Given the description of an element on the screen output the (x, y) to click on. 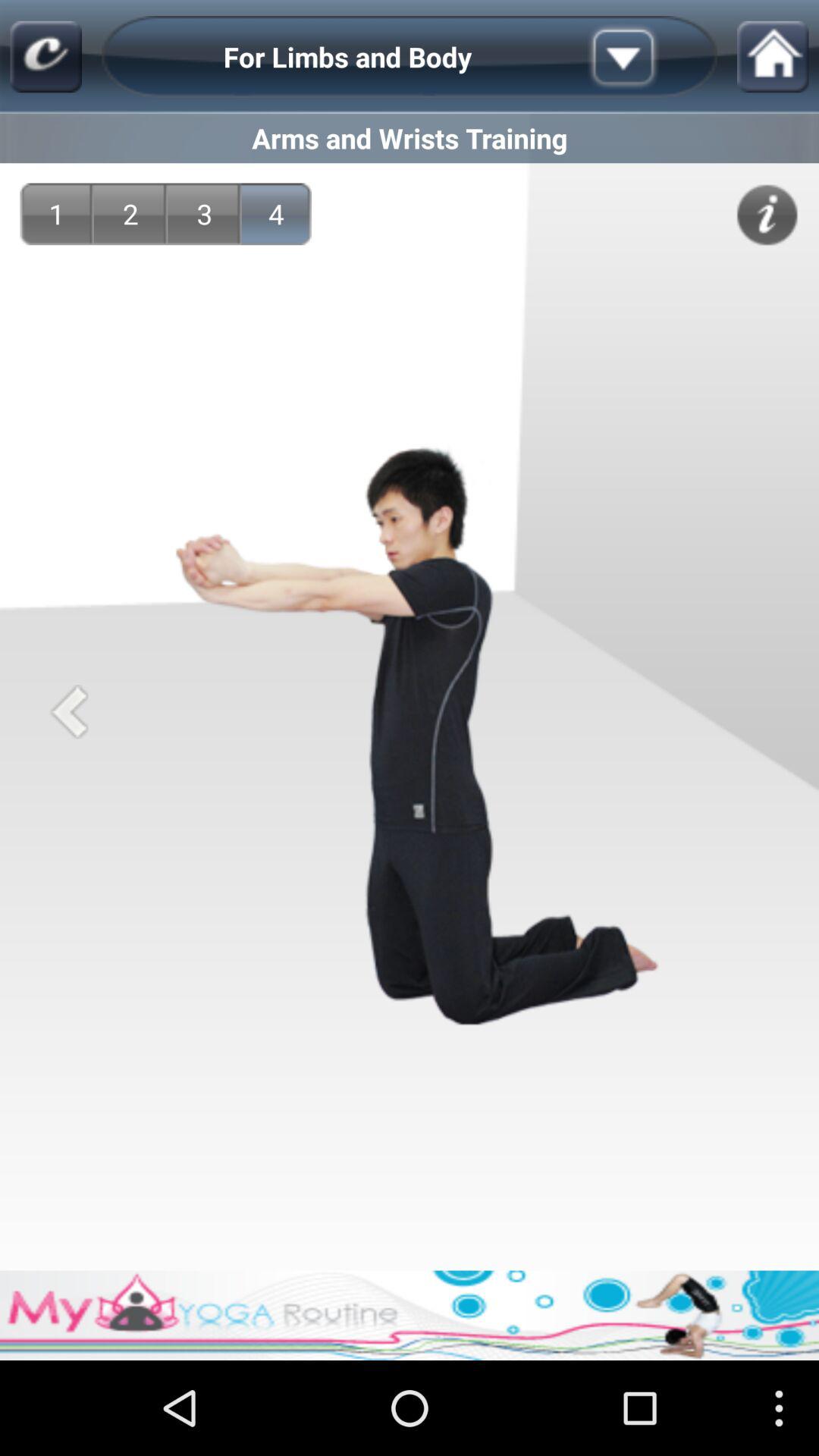
dropdown for more details (646, 56)
